Given the description of an element on the screen output the (x, y) to click on. 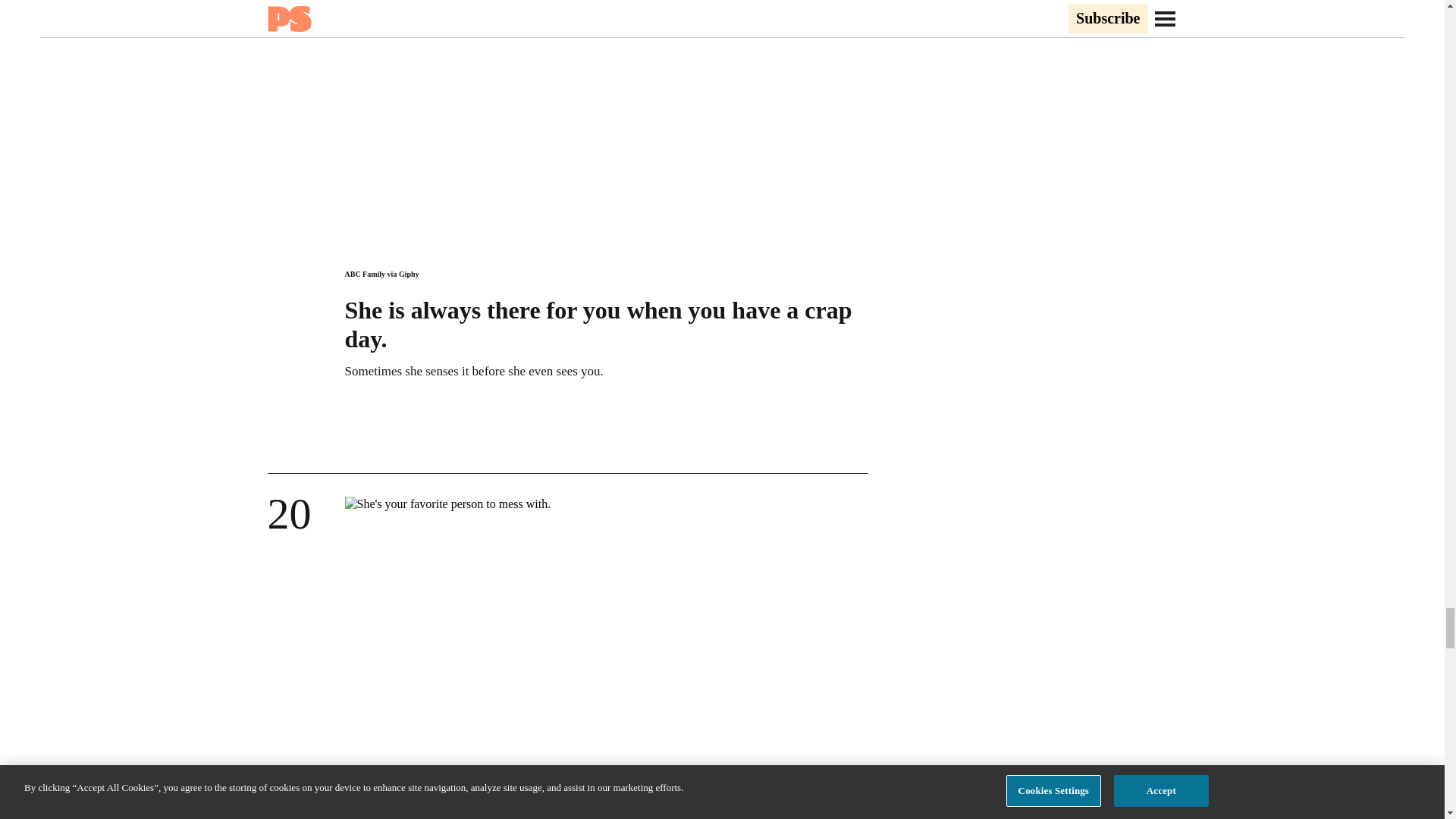
E! via Giphy (364, 799)
ABC Family via Giphy (381, 274)
